Given the description of an element on the screen output the (x, y) to click on. 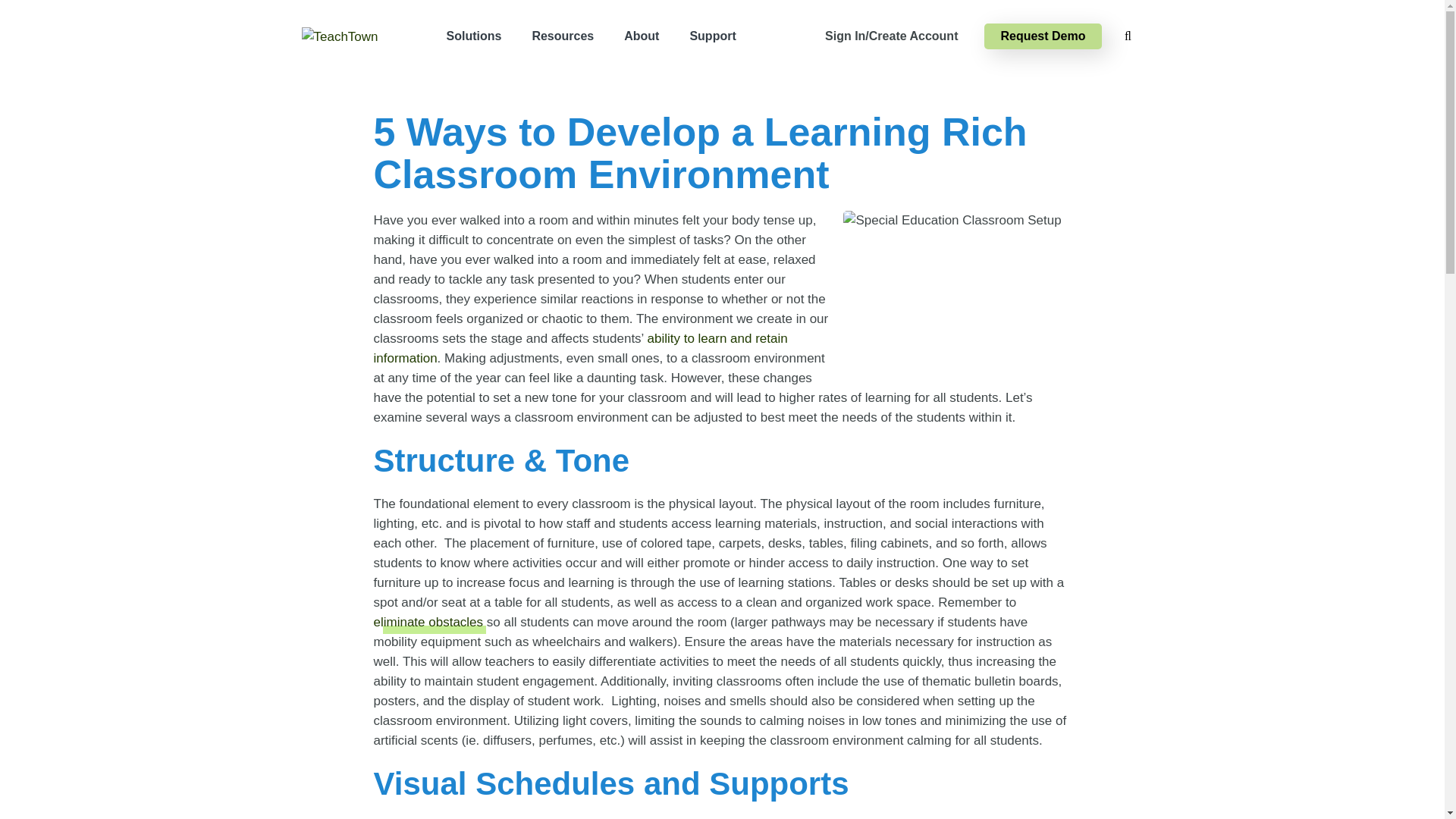
Solutions (473, 36)
Support (712, 36)
Resources (562, 36)
Request Demo (1042, 36)
About (641, 36)
